Given the description of an element on the screen output the (x, y) to click on. 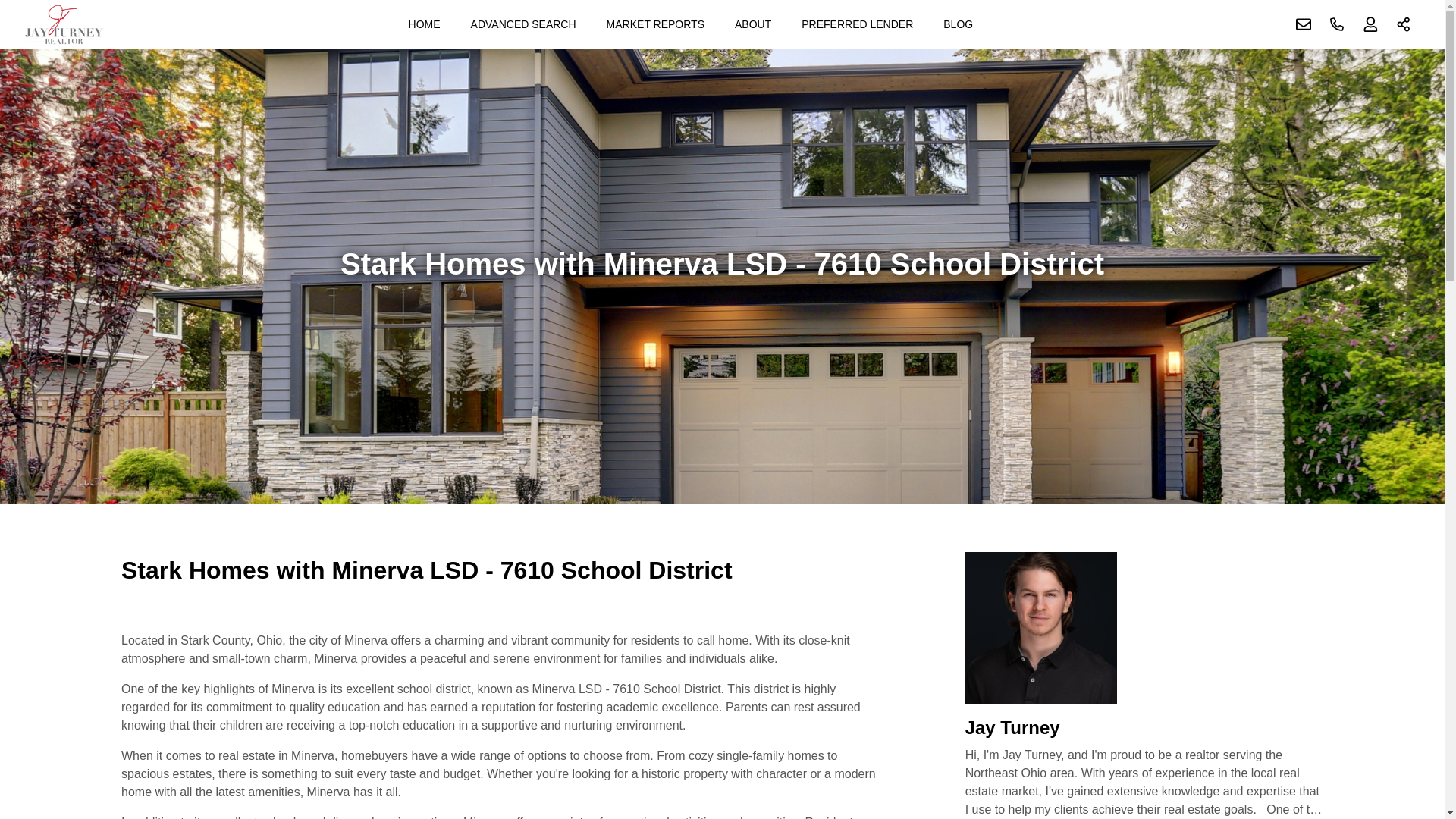
Phone number (1337, 23)
MARKET REPORTS (654, 24)
PREFERRED LENDER (856, 24)
ABOUT (752, 24)
HOME (423, 24)
ADVANCED SEARCH (523, 24)
Stark Homes with Minerva LSD - 7610 School District (500, 579)
Share (1404, 23)
Contact us (1303, 23)
BLOG (957, 24)
